Given the description of an element on the screen output the (x, y) to click on. 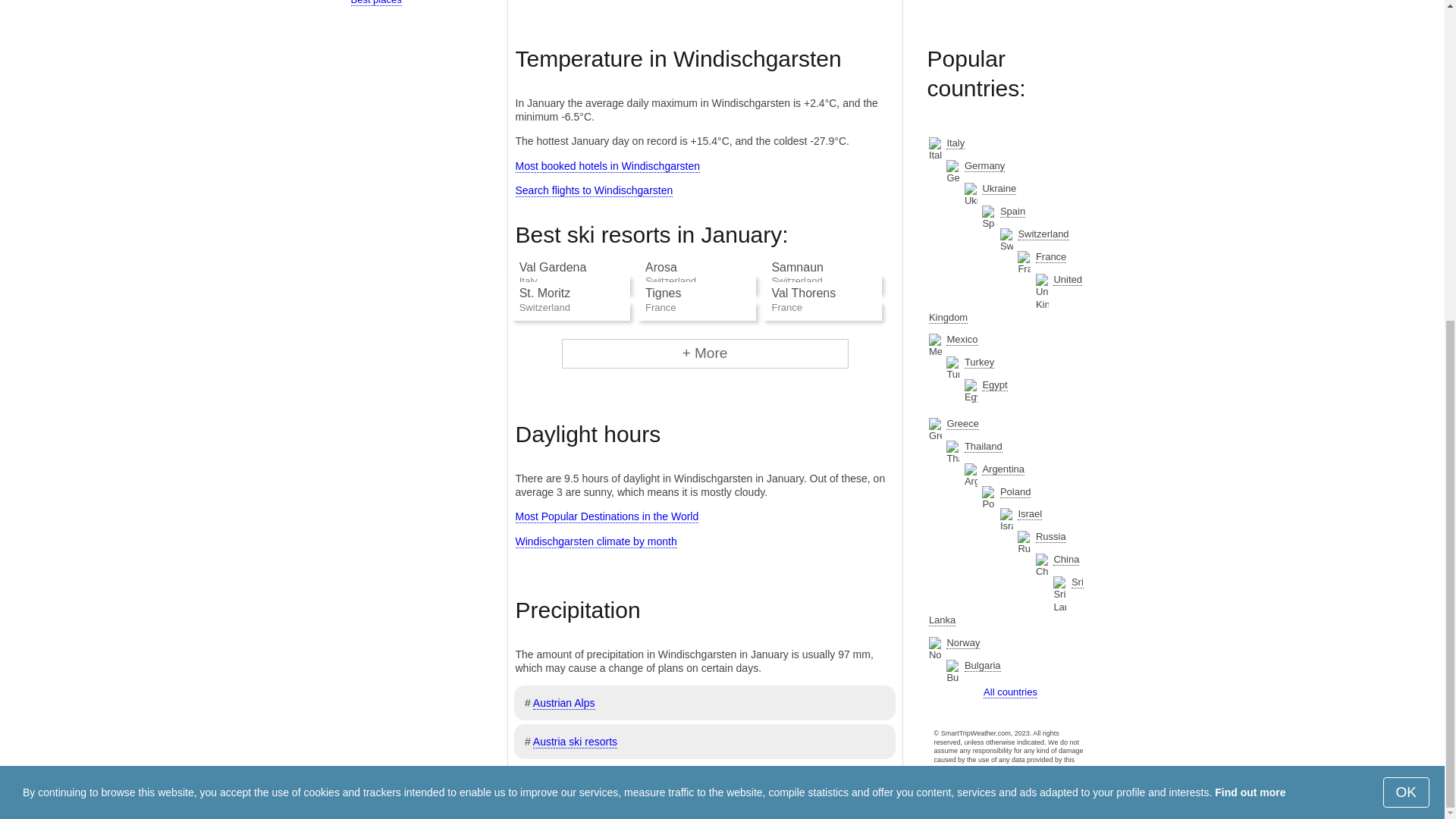
Mexico (961, 339)
United Kingdom (1004, 298)
Most Popular Destinations in the World (606, 516)
France (1050, 256)
Austria ski resorts (574, 741)
Switzerland (1042, 234)
Turkey (978, 362)
Egypt (994, 385)
Find out more (1249, 272)
St. Moritz (544, 292)
